Given the description of an element on the screen output the (x, y) to click on. 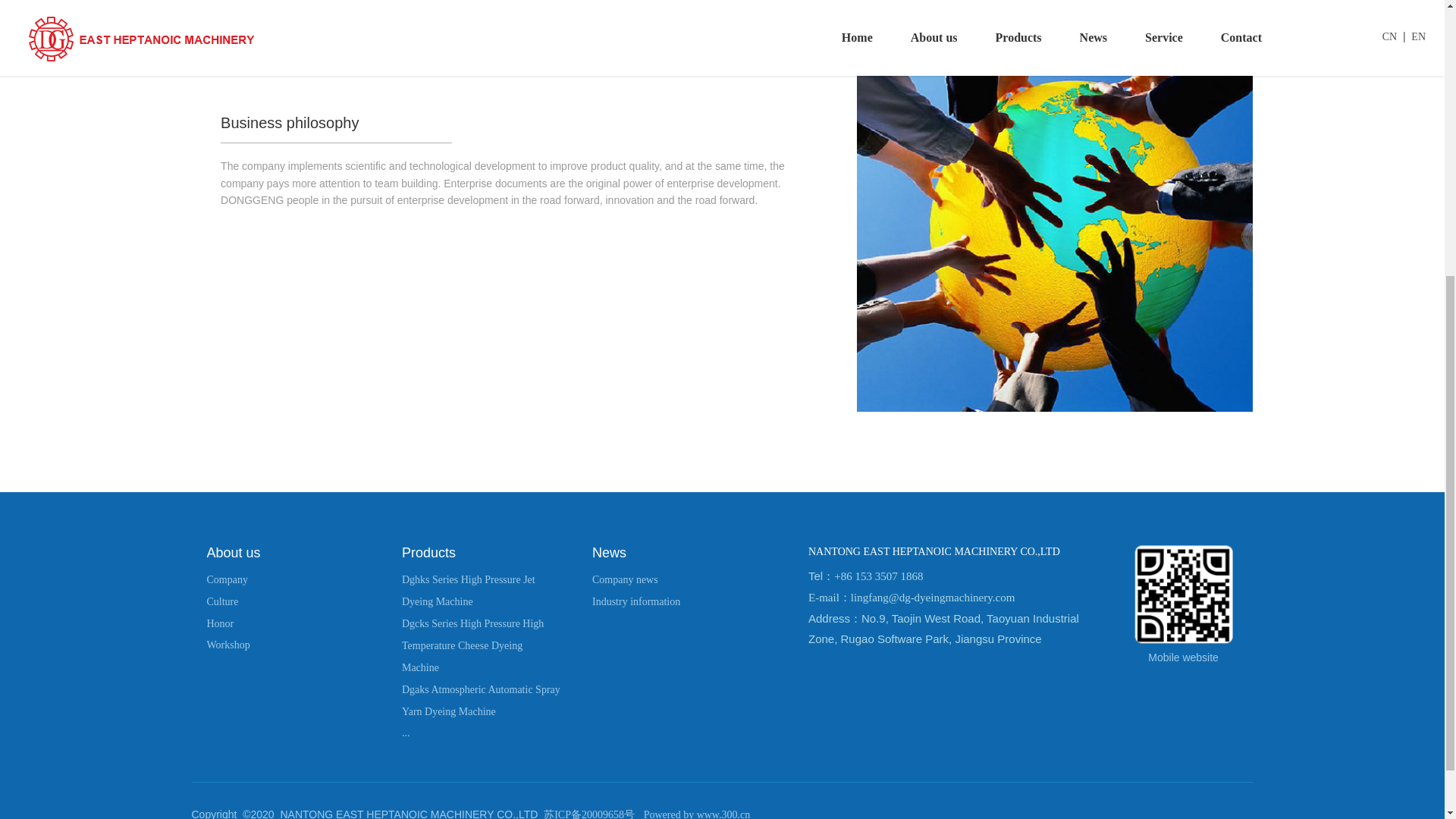
Dghks Series High Pressure Jet Dyeing Machine (468, 590)
Industry information (635, 601)
Company (226, 579)
Workshop (227, 644)
DONGGENG (480, 689)
Culture (625, 579)
Mobile website (222, 601)
NANTONG EAST HEPTANOIC MACHINERY CO.,LTD (1183, 594)
